Given the description of an element on the screen output the (x, y) to click on. 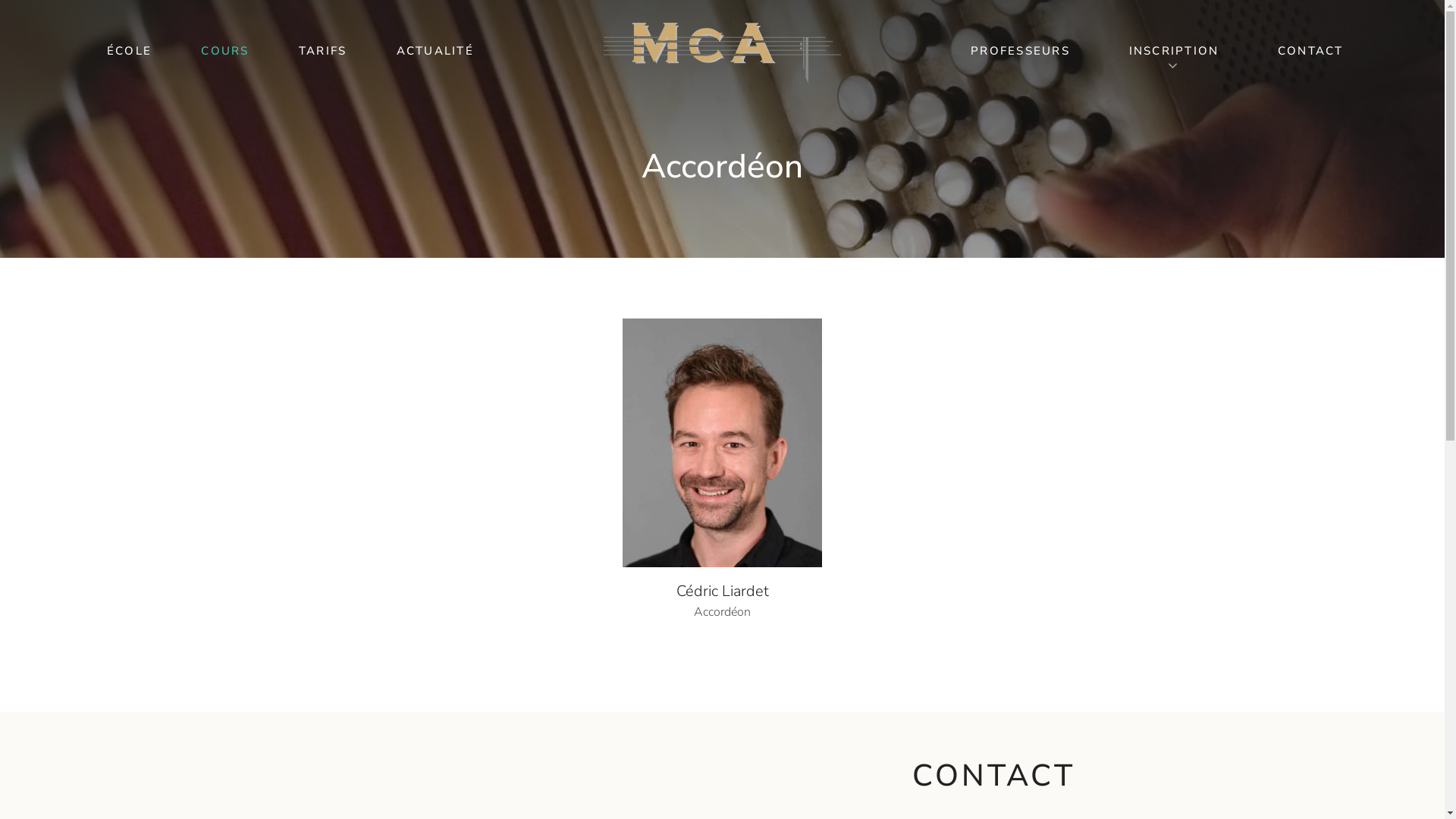
PROFESSEURS Element type: text (1020, 51)
TARIFS Element type: text (322, 51)
ACCUEIL Element type: text (130, 51)
CONTACT Element type: text (1310, 51)
COURS Element type: text (224, 51)
INSCRIPTION Element type: text (1174, 51)
